Given the description of an element on the screen output the (x, y) to click on. 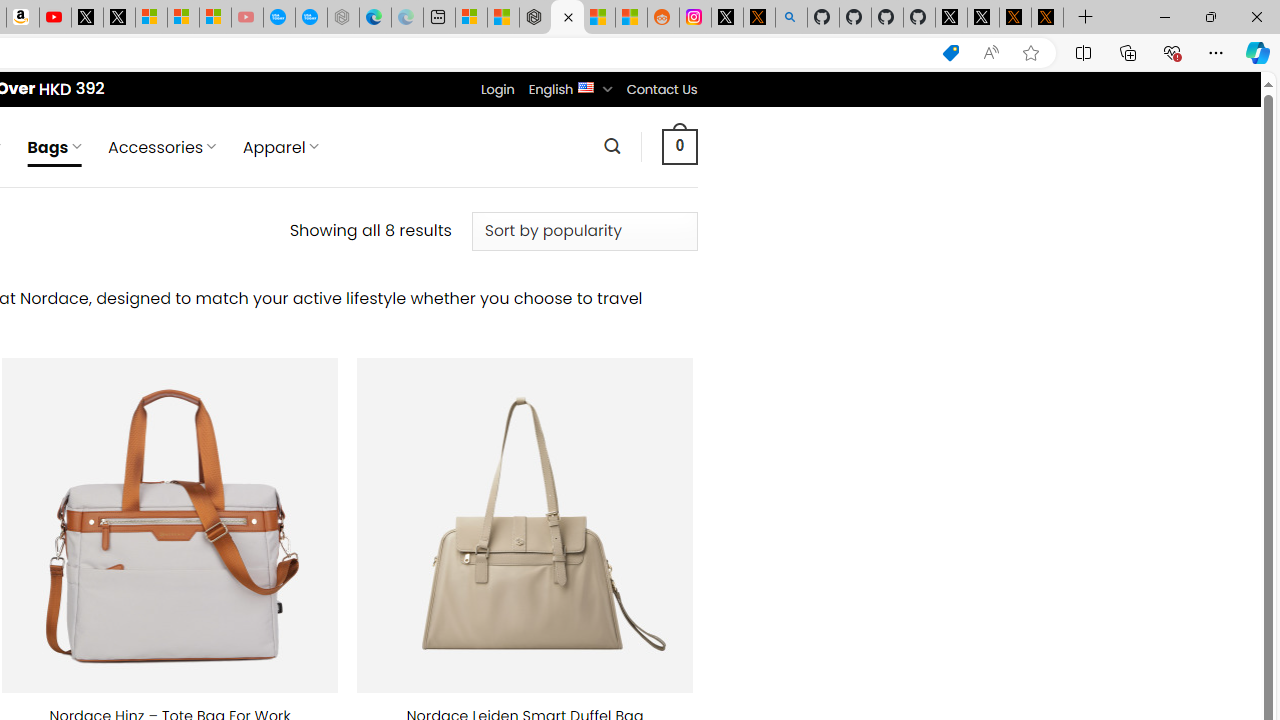
Contact Us (661, 89)
github - Search (791, 17)
Login (497, 89)
Shop order (584, 231)
Opinion: Op-Ed and Commentary - USA TODAY (279, 17)
Nordace - Best Sellers (535, 17)
Profile / X (950, 17)
